Given the description of an element on the screen output the (x, y) to click on. 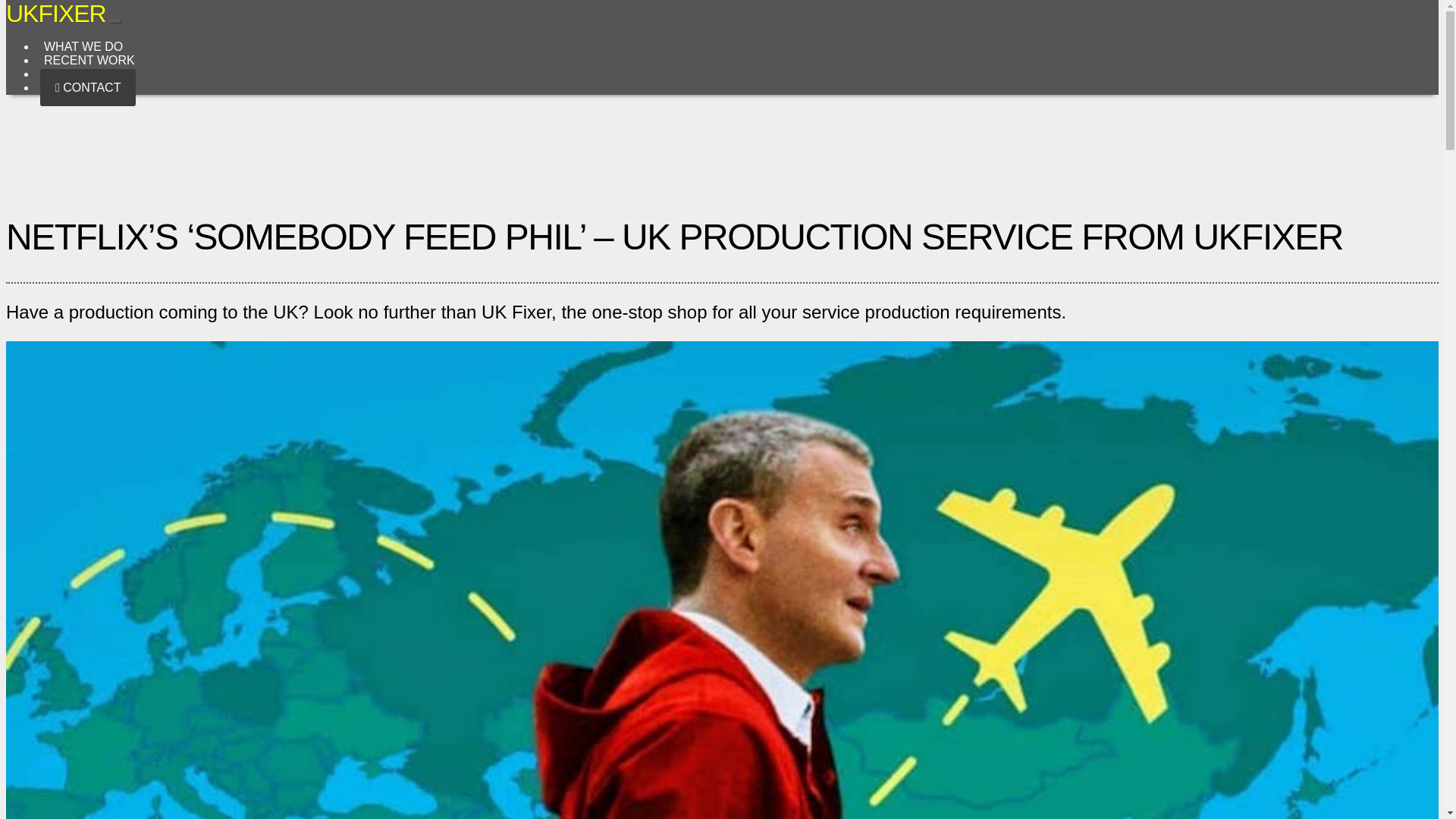
BLOG (60, 73)
WHAT WE DO (83, 46)
CONTACT (87, 87)
RECENT WORK (89, 60)
UKFIXER (55, 14)
